Given the description of an element on the screen output the (x, y) to click on. 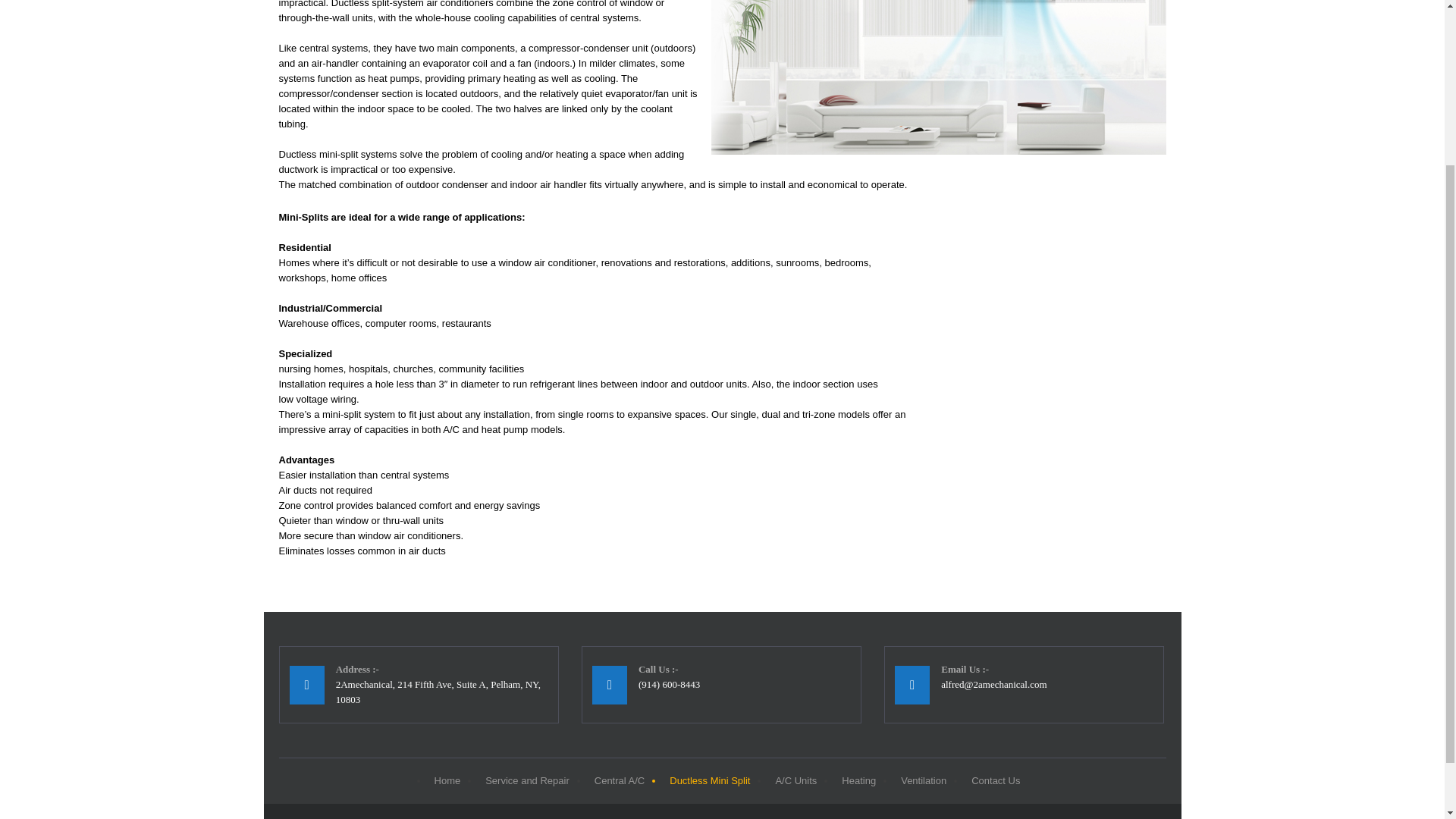
Home (445, 780)
Contact Us (994, 780)
Ductless Mini Split (707, 780)
Ventilation (921, 780)
Service and Repair (525, 780)
Heating (857, 780)
